Given the description of an element on the screen output the (x, y) to click on. 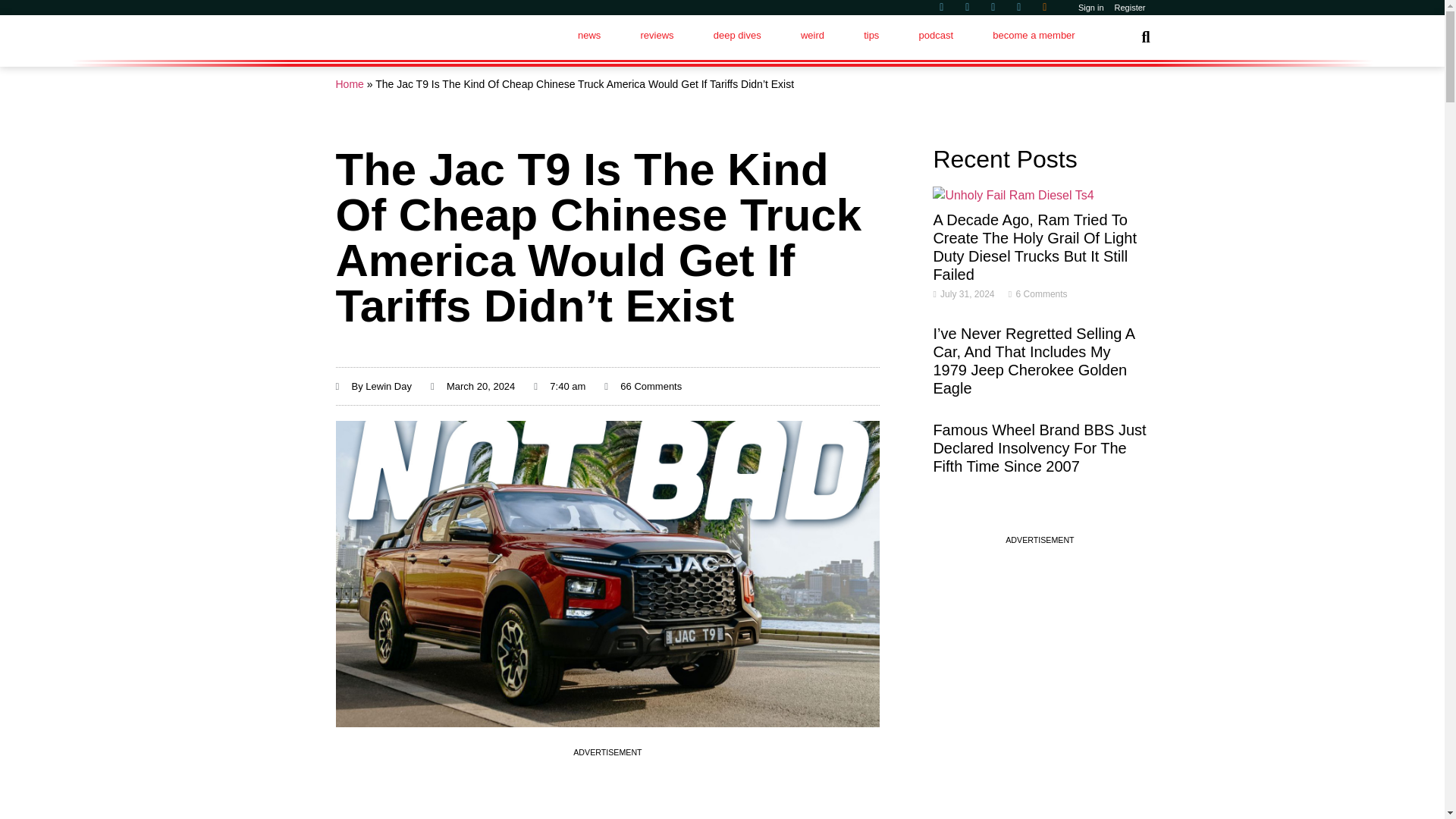
weird (812, 35)
March 20, 2024 (472, 386)
deep dives (737, 35)
become a member (1033, 35)
Register (1130, 7)
reviews (656, 35)
Sign in (1091, 7)
podcast (935, 35)
tips (871, 35)
By Lewin Day (372, 386)
Home (348, 83)
news (589, 35)
66 Comments (642, 386)
